Given the description of an element on the screen output the (x, y) to click on. 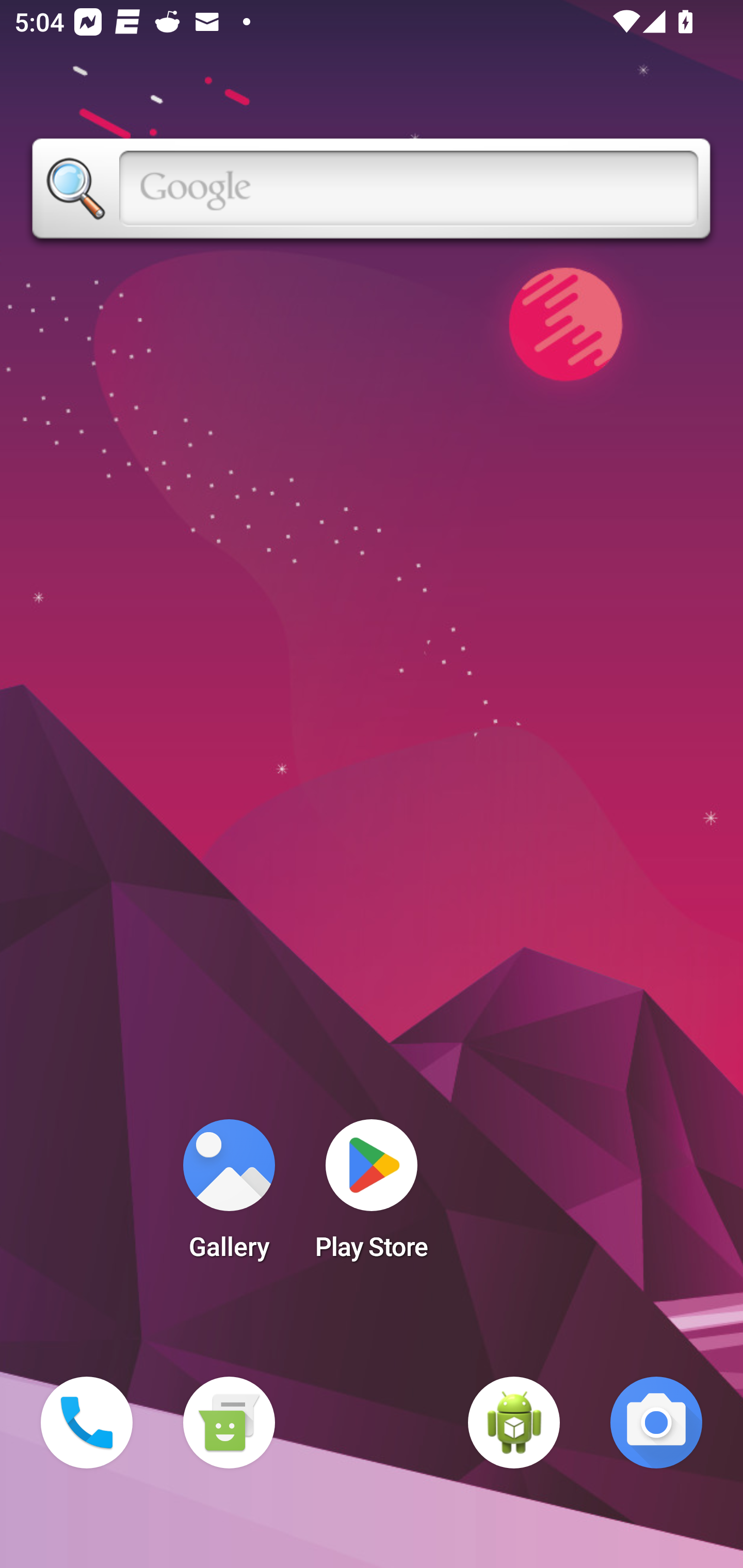
Gallery (228, 1195)
Play Store (371, 1195)
Phone (86, 1422)
Messaging (228, 1422)
WebView Browser Tester (513, 1422)
Camera (656, 1422)
